Given the description of an element on the screen output the (x, y) to click on. 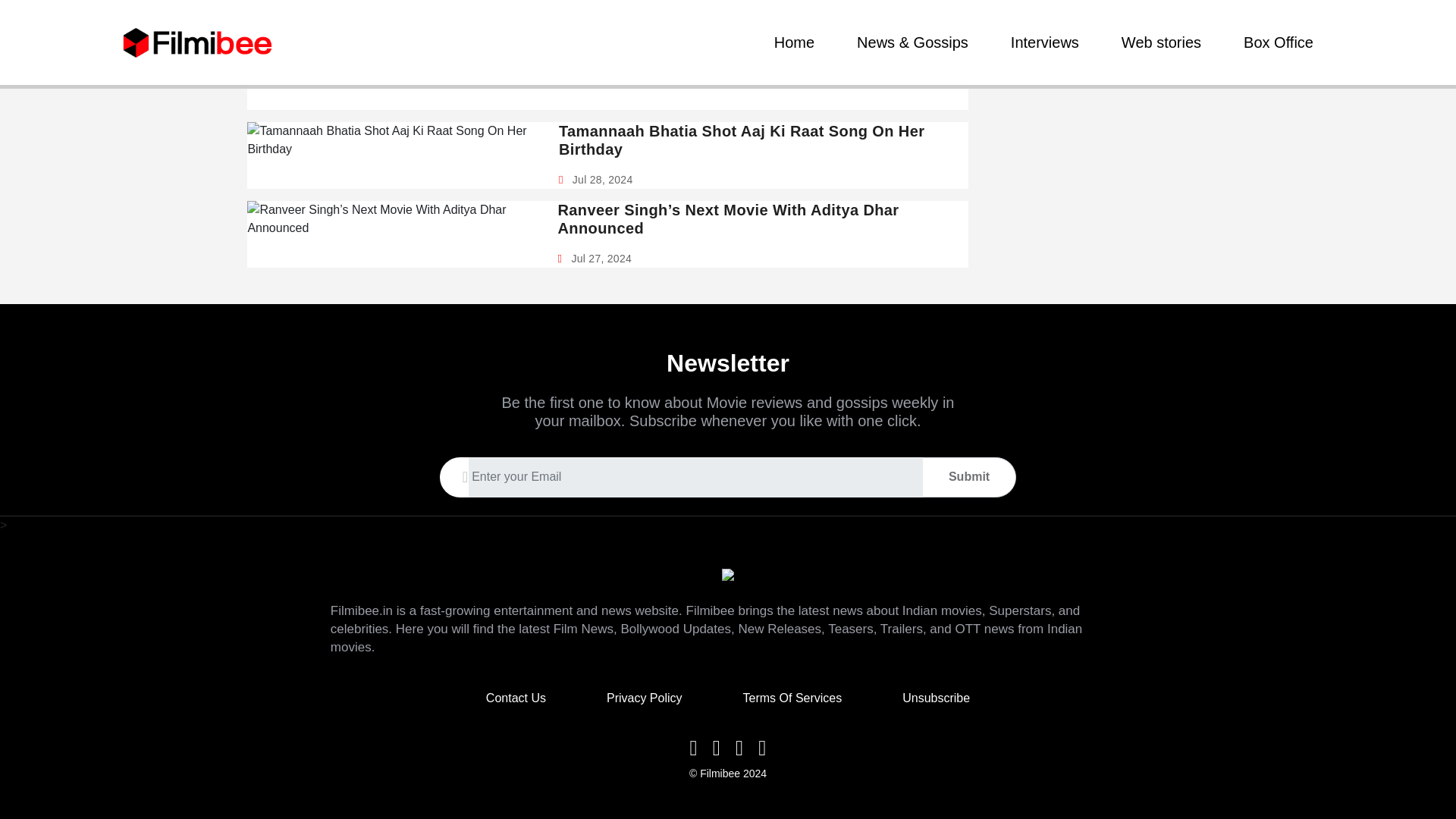
Terms Of Services (792, 698)
Contact Us (516, 698)
Top Netflix Picks For A Perfect Weekend Binge-Watch (669, 31)
Privacy Policy (644, 698)
Tamannaah Bhatia Shot Aaj Ki Raat Song On Her Birthday (757, 140)
Tamannaah Bhatia Shot Aaj Ki Raat Song On Her Birthday (757, 140)
Top Netflix Picks For A Perfect Weekend Binge-Watch (669, 31)
Submit (968, 477)
Unsubscribe (935, 698)
